Given the description of an element on the screen output the (x, y) to click on. 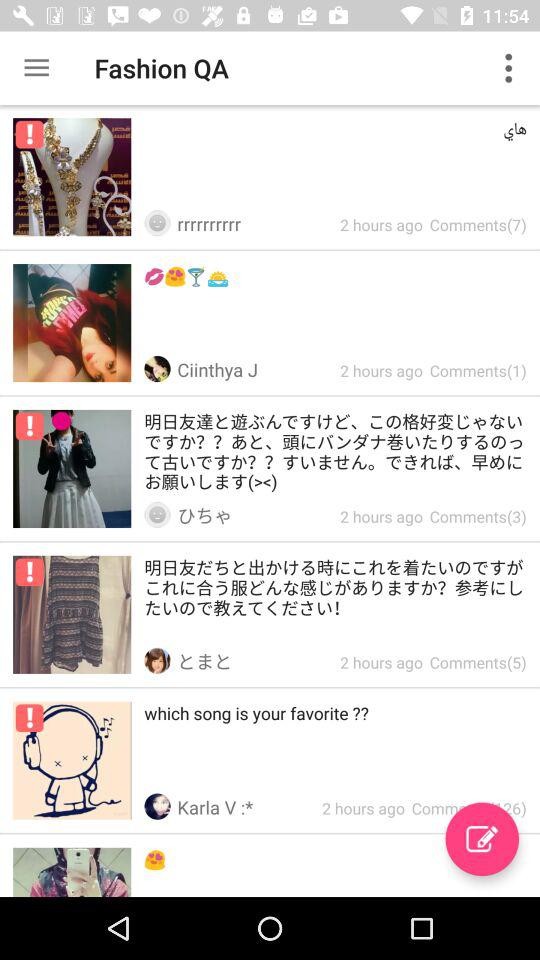
press the item below the which song is icon (482, 839)
